Given the description of an element on the screen output the (x, y) to click on. 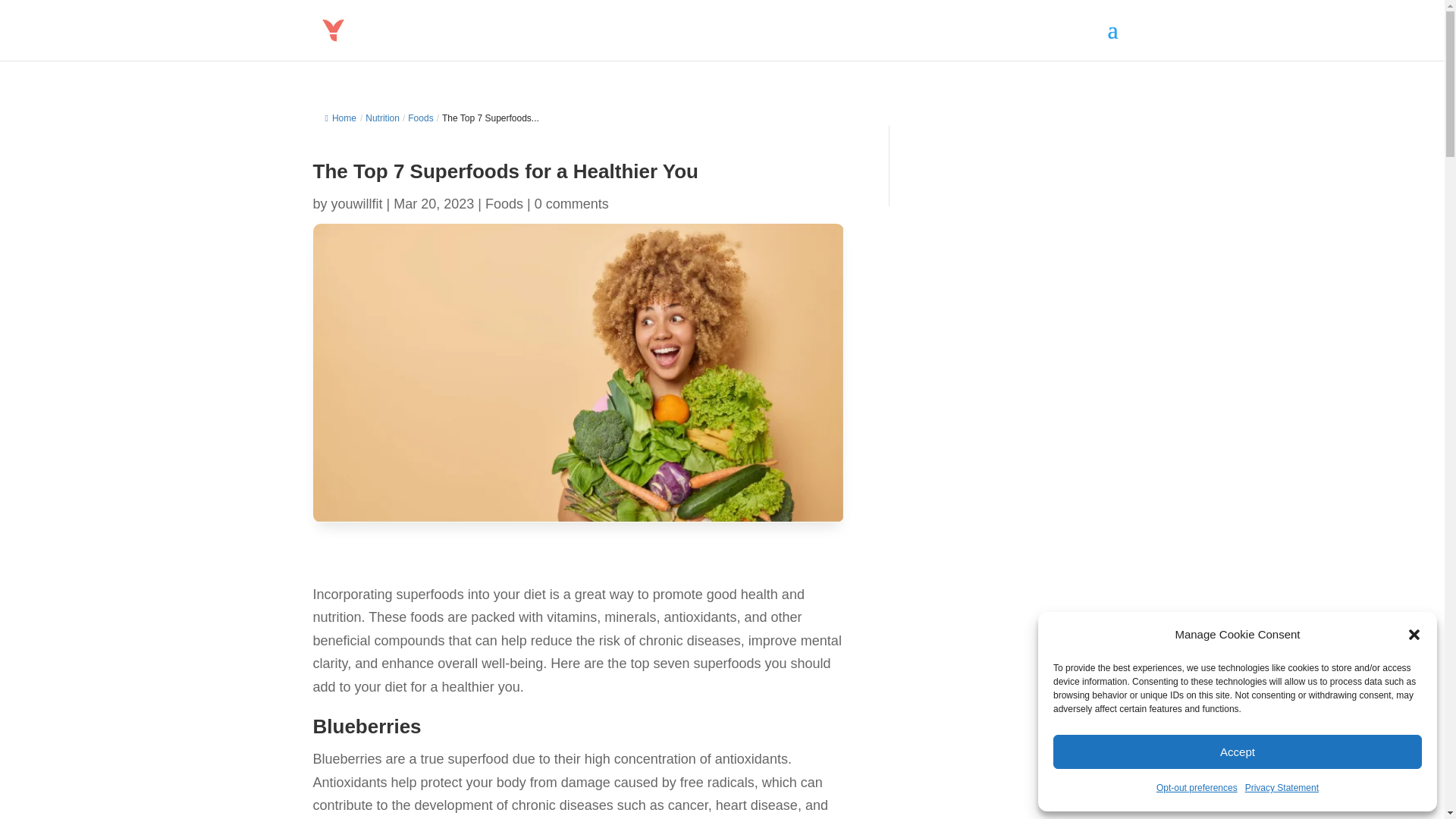
Privacy Statement (1281, 788)
youwillfit (356, 203)
Foods (419, 118)
Category Name (381, 118)
Opt-out preferences (1196, 788)
Posts by youwillfit (356, 203)
Nutrition (381, 118)
0 comments (571, 203)
Accept (1237, 751)
Foods (503, 203)
